Given the description of an element on the screen output the (x, y) to click on. 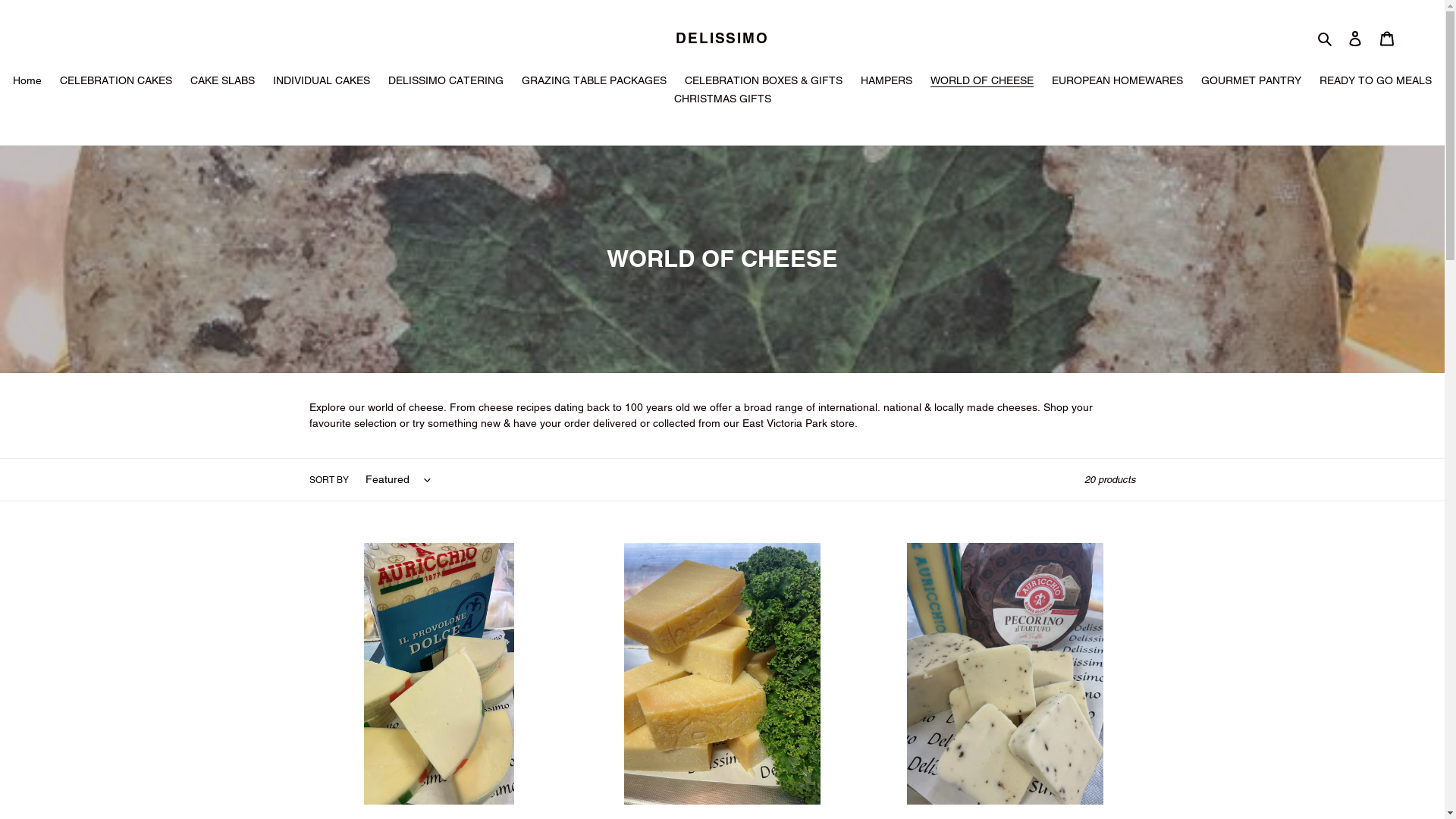
WORLD OF CHEESE Element type: text (981, 81)
DELISSIMO CATERING Element type: text (445, 81)
DELISSIMO Element type: text (721, 38)
CELEBRATION CAKES Element type: text (115, 81)
EUROPEAN HOMEWARES Element type: text (1117, 81)
Log in Element type: text (1355, 37)
GRAZING TABLE PACKAGES Element type: text (594, 81)
CHRISTMAS GIFTS Element type: text (721, 100)
Search Element type: text (1325, 38)
HAMPERS Element type: text (886, 81)
Cart Element type: text (1386, 37)
CAKE SLABS Element type: text (222, 81)
READY TO GO MEALS Element type: text (1375, 81)
Home Element type: text (27, 81)
CELEBRATION BOXES & GIFTS Element type: text (763, 81)
GOURMET PANTRY Element type: text (1250, 81)
INDIVIDUAL CAKES Element type: text (321, 81)
